Given the description of an element on the screen output the (x, y) to click on. 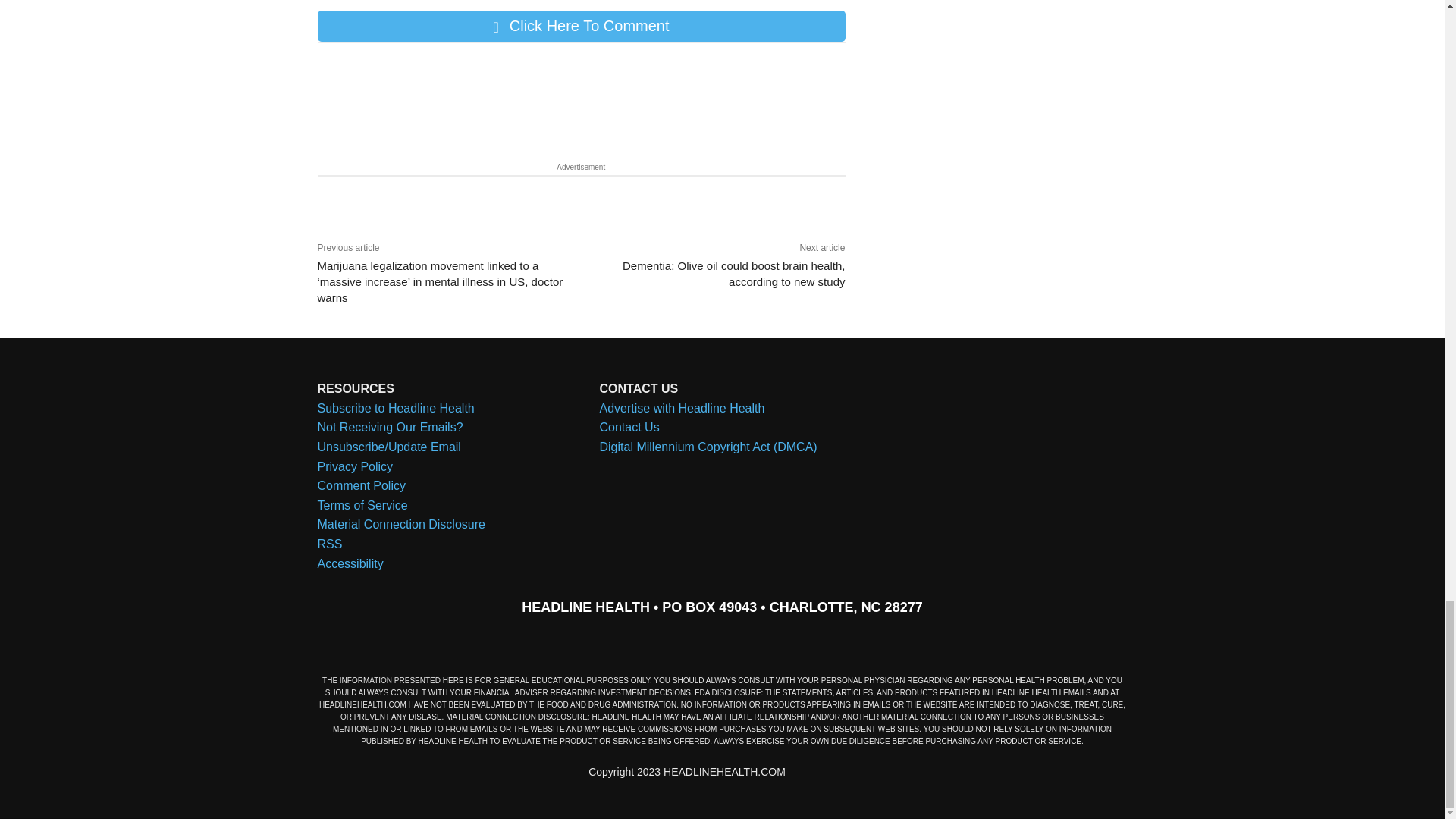
Click Here To Comment (580, 25)
